Given the description of an element on the screen output the (x, y) to click on. 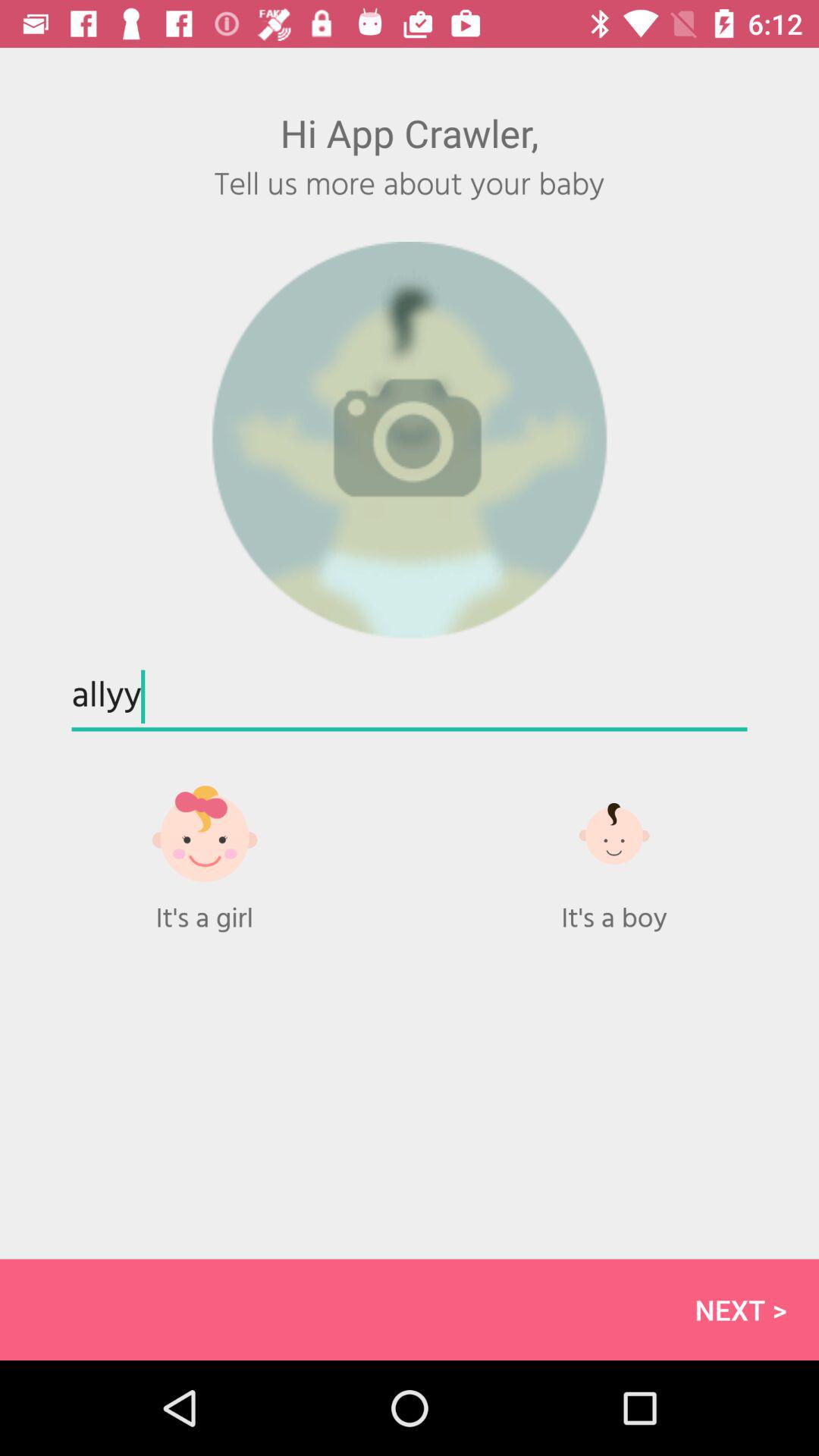
choose allyy at the center (409, 697)
